Given the description of an element on the screen output the (x, y) to click on. 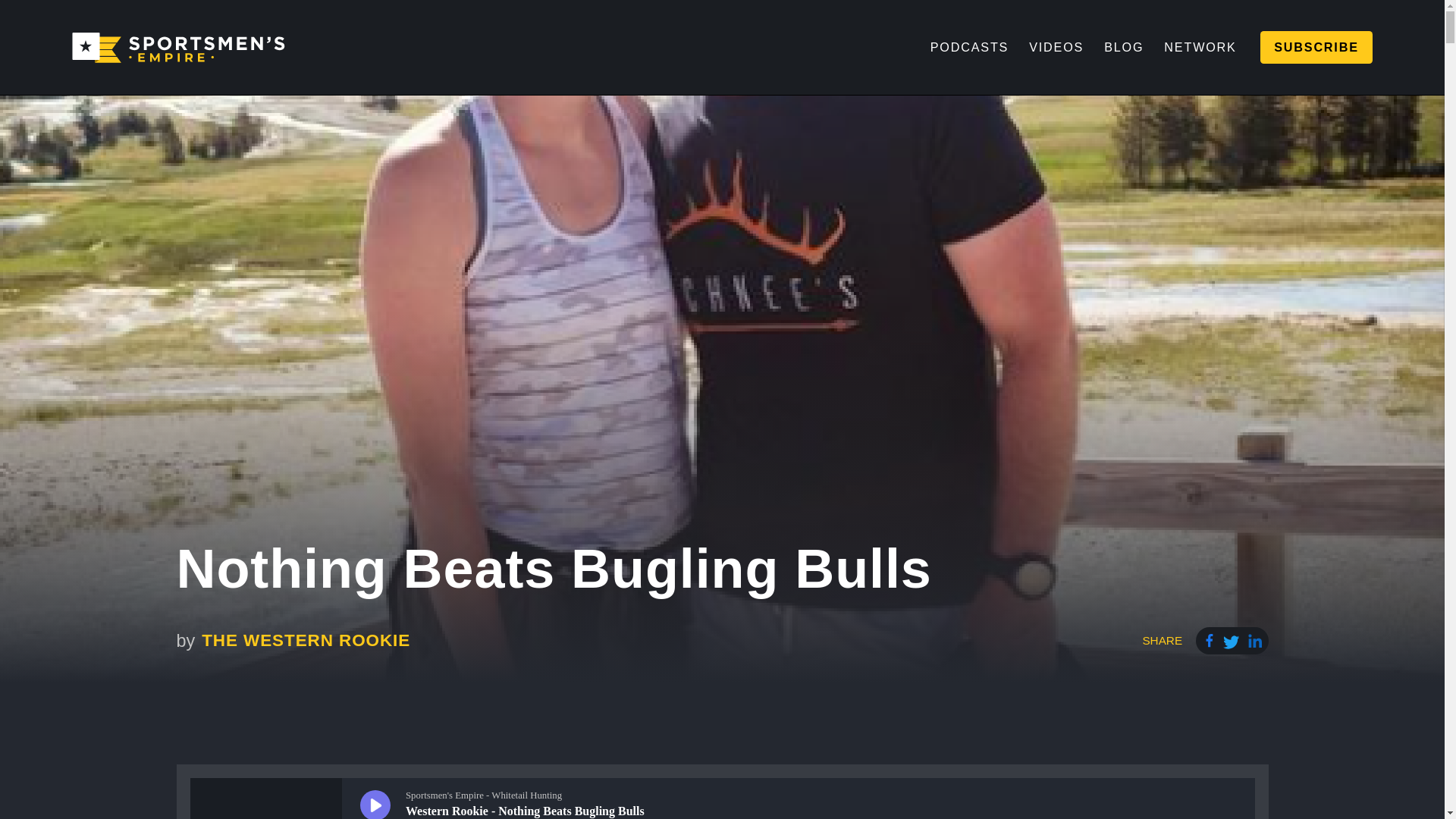
PODCASTS (968, 47)
BLOG (1124, 47)
NETWORK (1200, 47)
VIDEOS (1056, 47)
THE WESTERN ROOKIE (302, 641)
SUBSCRIBE (1316, 47)
